Given the description of an element on the screen output the (x, y) to click on. 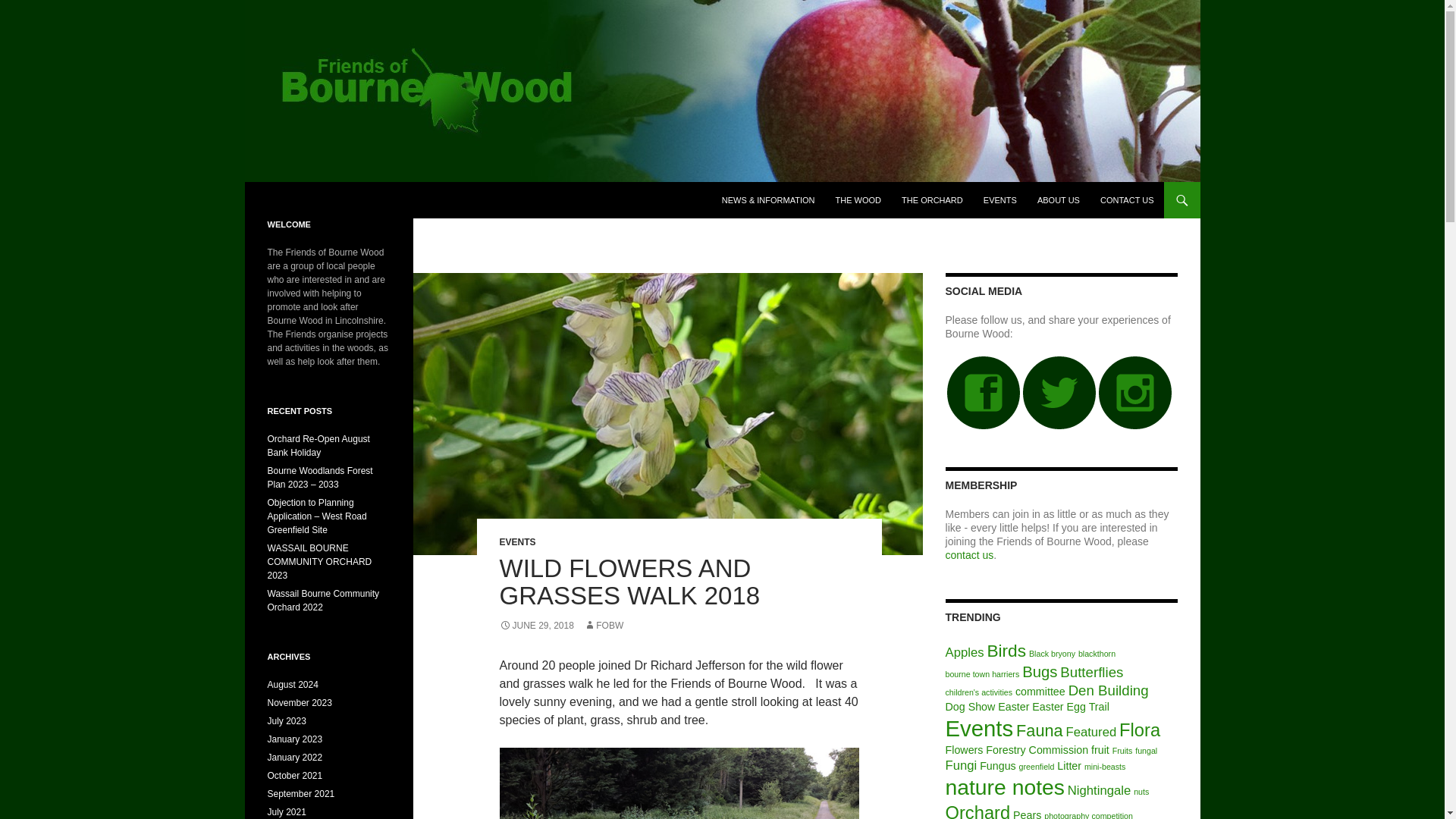
blackthorn (1096, 653)
Butterflies (1090, 672)
Apples (964, 652)
Birds (1006, 650)
contact firends of bourne wood (969, 554)
Den Building (1108, 690)
friends of bourne wood instagram account (1135, 391)
THE WOOD (859, 199)
Bugs (1039, 671)
